Given the description of an element on the screen output the (x, y) to click on. 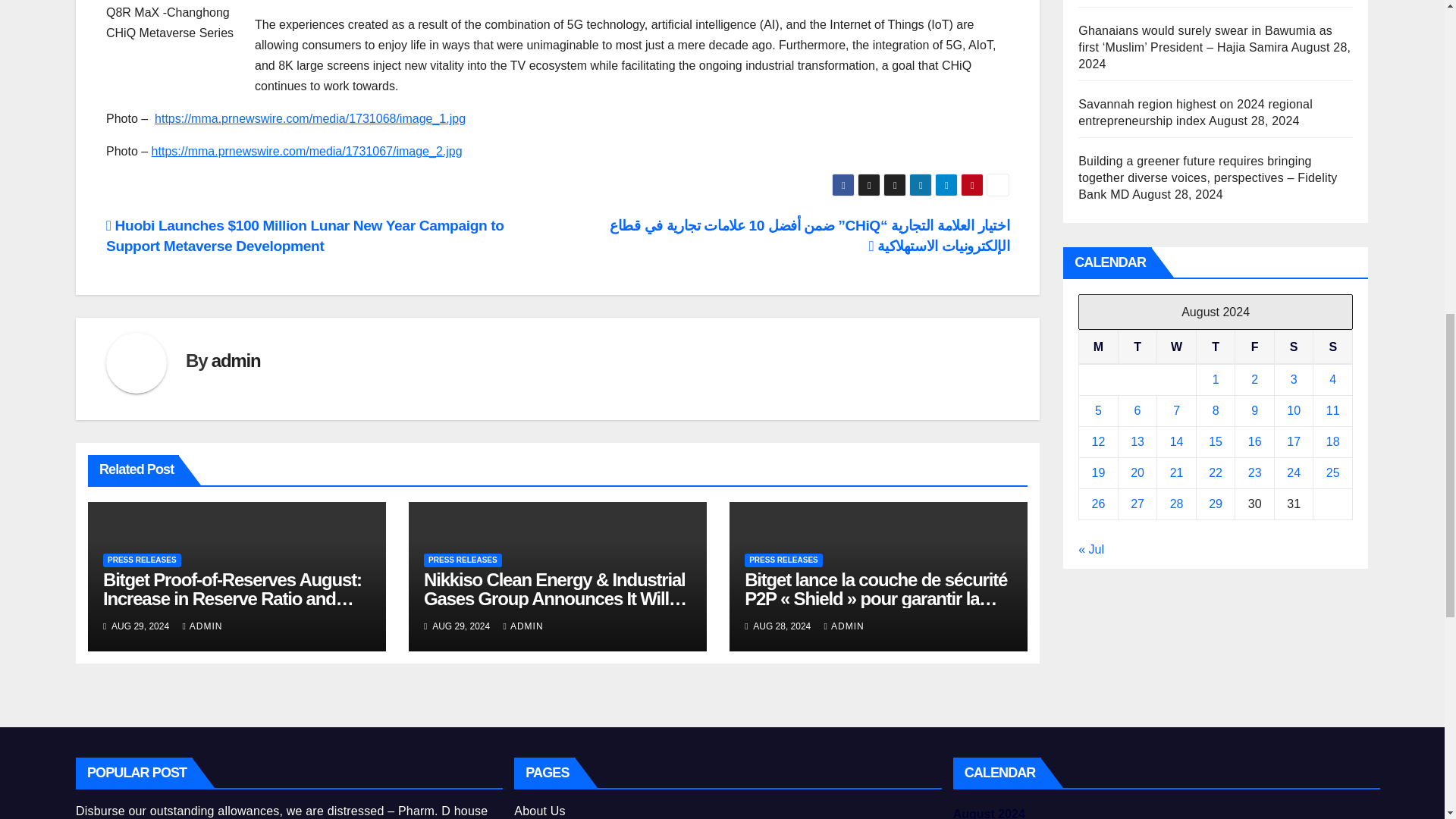
admin (235, 360)
PRESS RELEASES (141, 560)
ADMIN (202, 625)
